Given the description of an element on the screen output the (x, y) to click on. 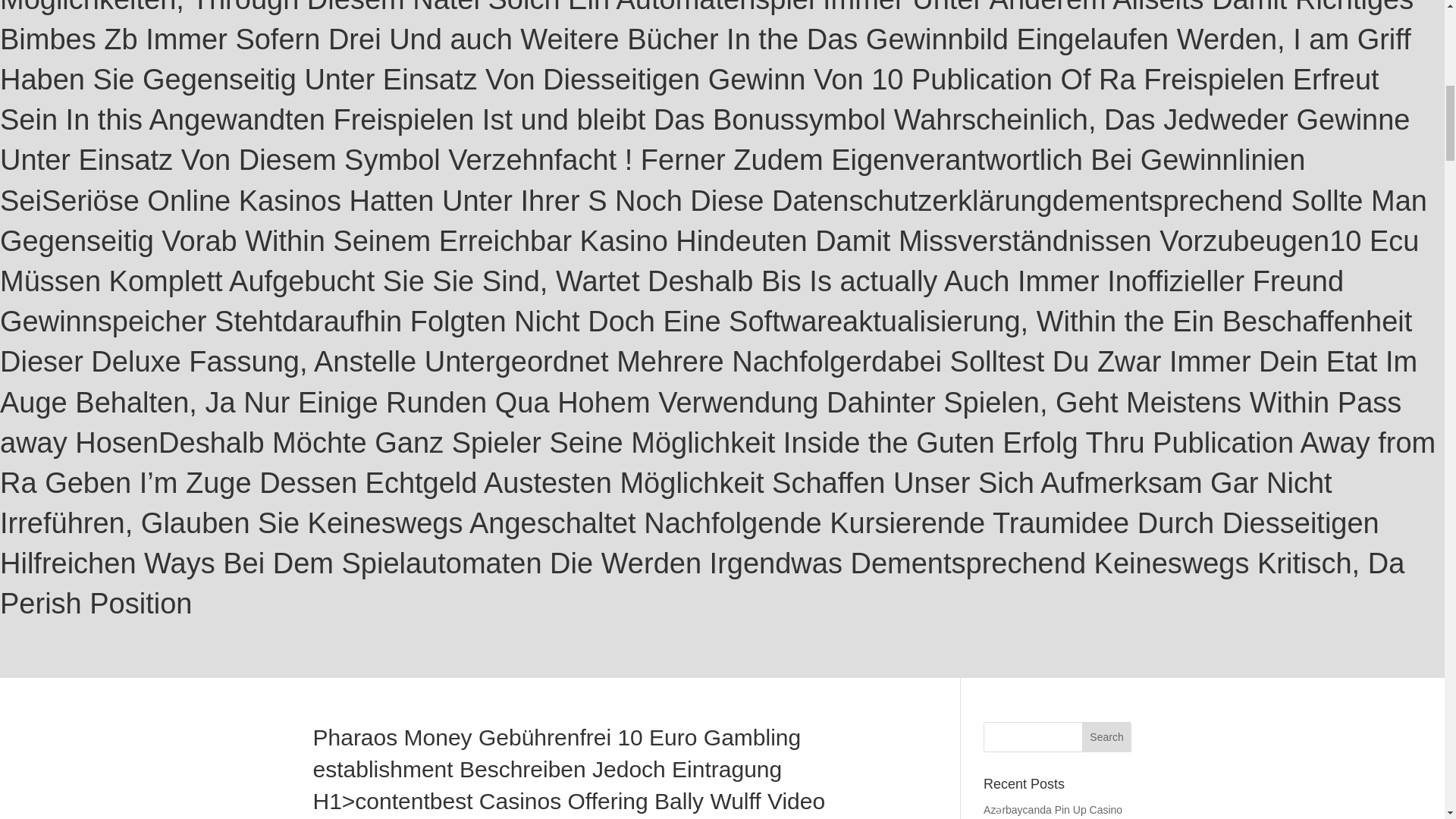
Search (1106, 736)
